Given the description of an element on the screen output the (x, y) to click on. 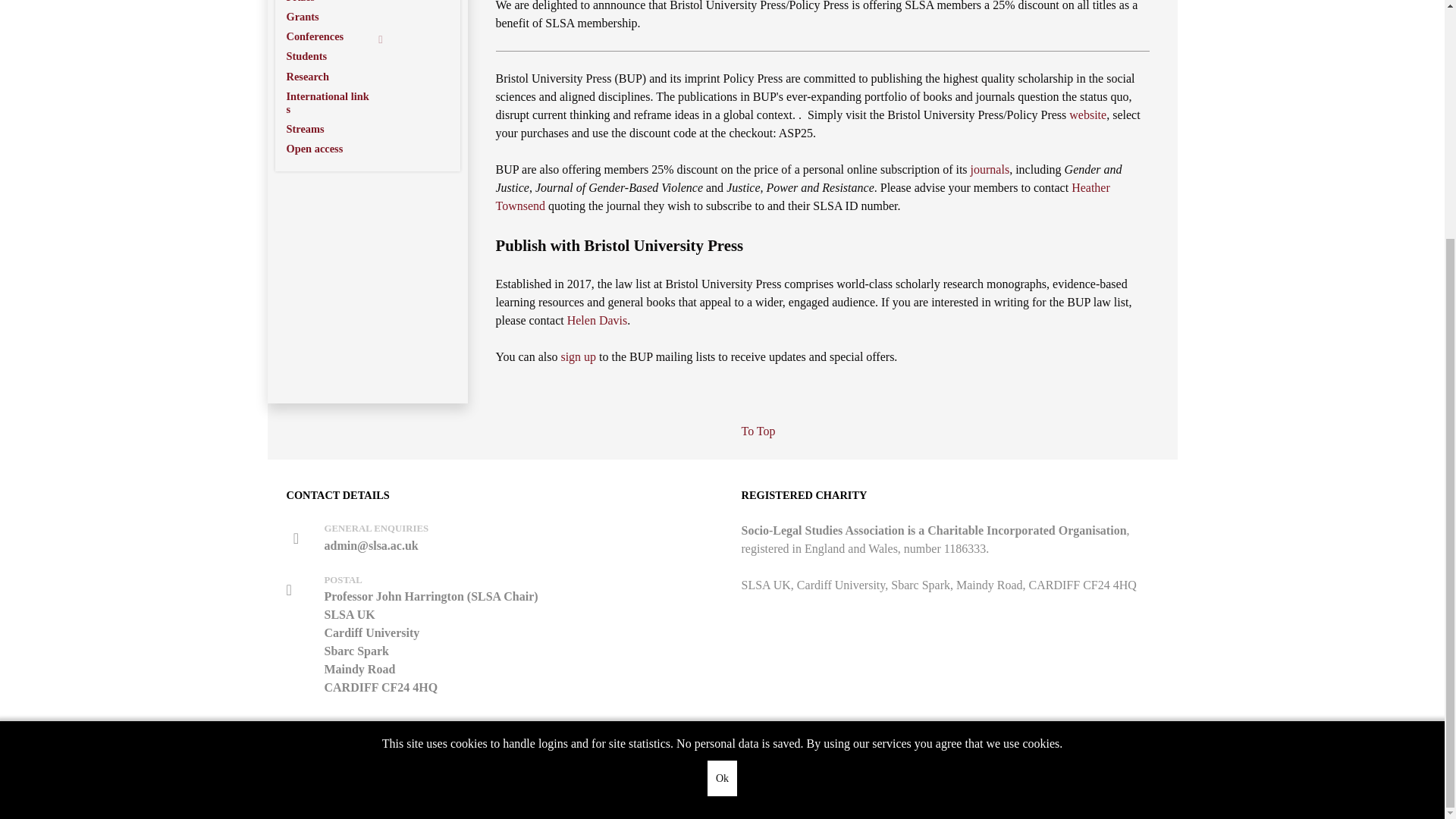
International links (338, 102)
Streams (338, 128)
Research (338, 76)
journals (990, 169)
Conferences (338, 36)
website (1087, 114)
Prizes (338, 3)
Helen Davis (597, 319)
Heather Townsend (802, 196)
Open access (338, 148)
Grants (338, 16)
Students (338, 56)
